Given the description of an element on the screen output the (x, y) to click on. 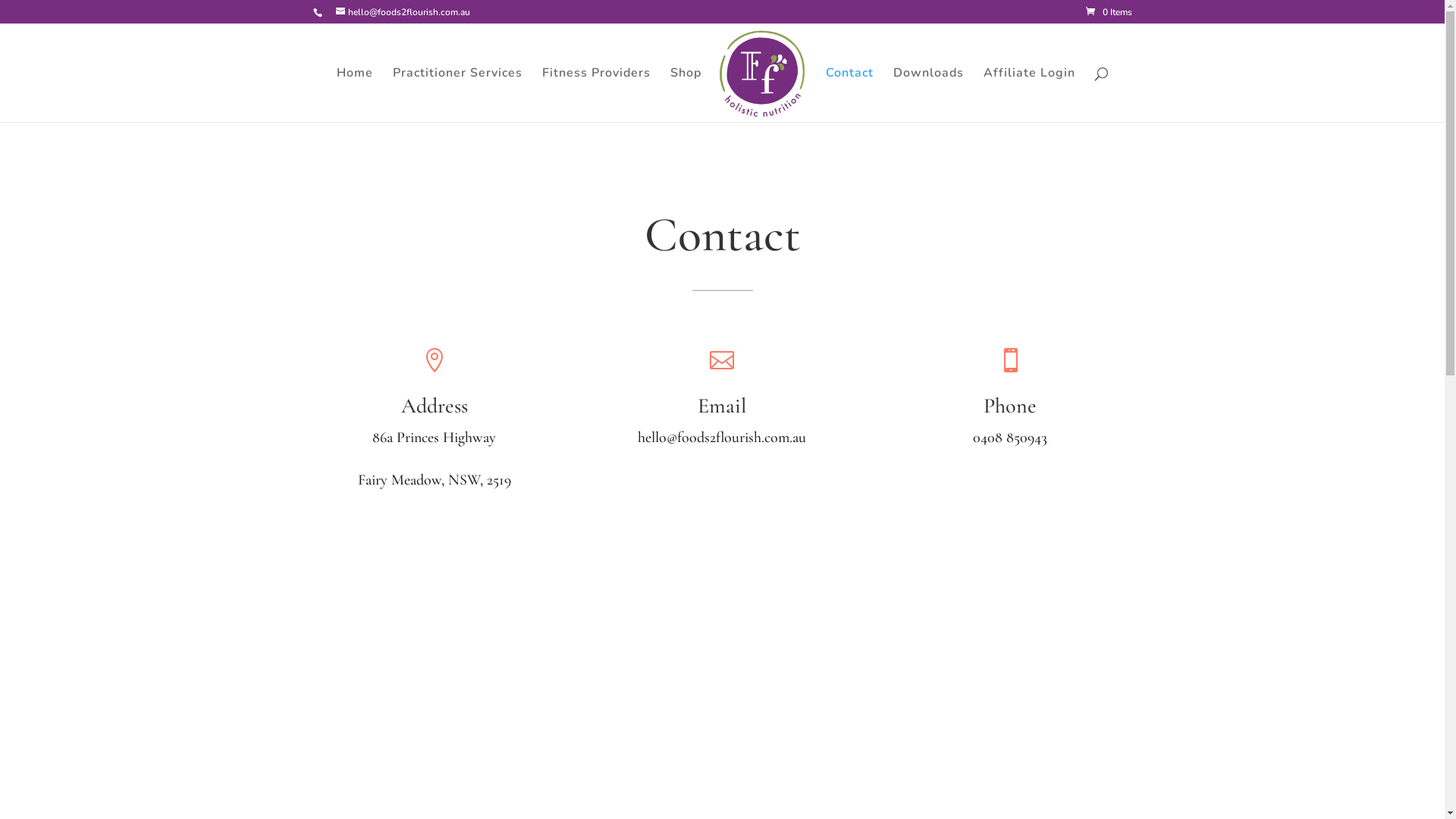
Practitioner Services Element type: text (457, 94)
Downloads Element type: text (928, 94)
Affiliate Login Element type: text (1028, 94)
Home Element type: text (354, 94)
Fitness Providers Element type: text (595, 94)
Contact Element type: text (848, 94)
hello@foods2flourish.com.au Element type: text (402, 12)
0 Items Element type: text (1108, 12)
Shop Element type: text (685, 94)
